Given the description of an element on the screen output the (x, y) to click on. 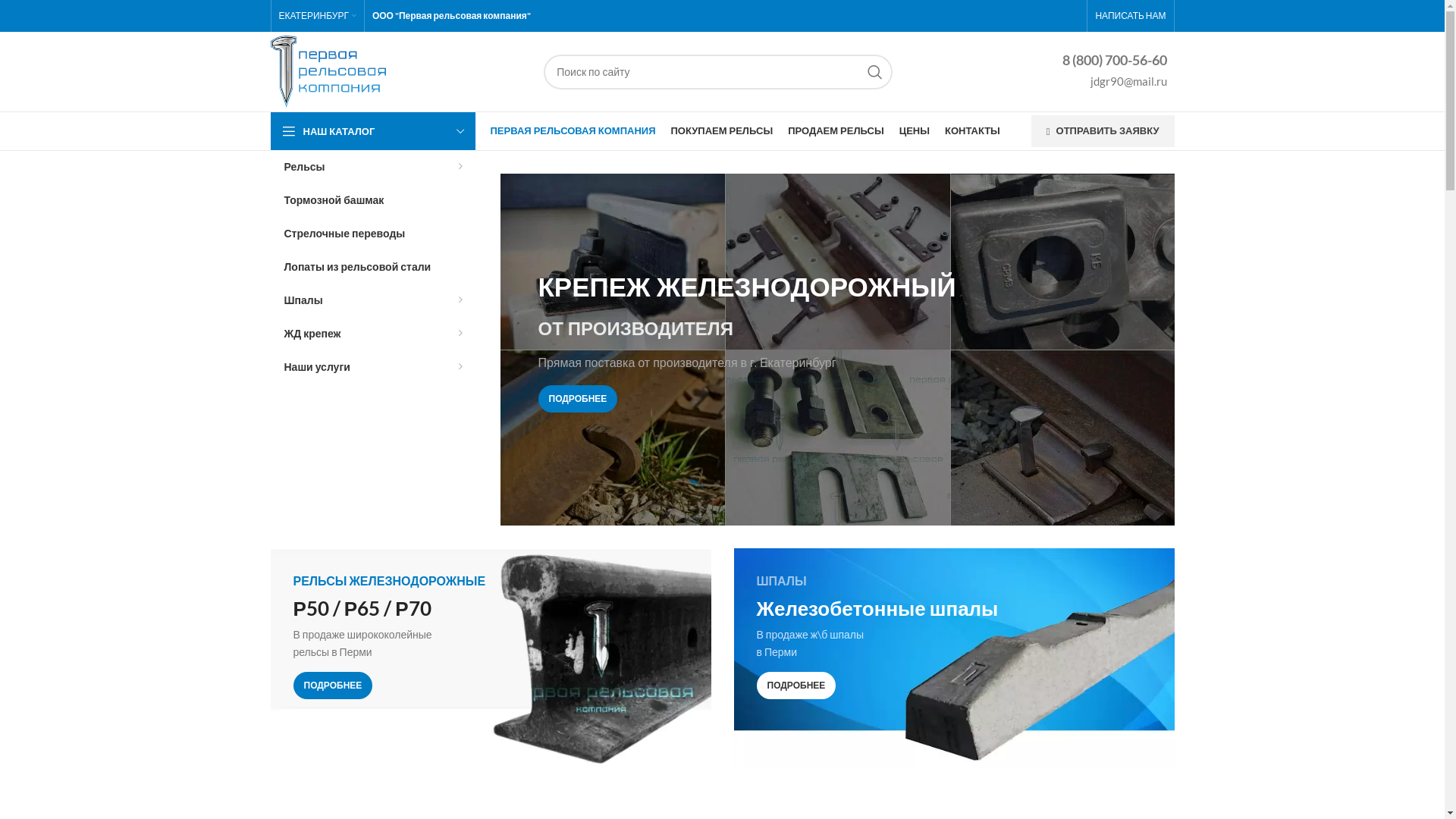
jdgr90@mail.ru Element type: text (1113, 83)
8 (800) 700-56-60 Element type: text (1113, 64)
